Given the description of an element on the screen output the (x, y) to click on. 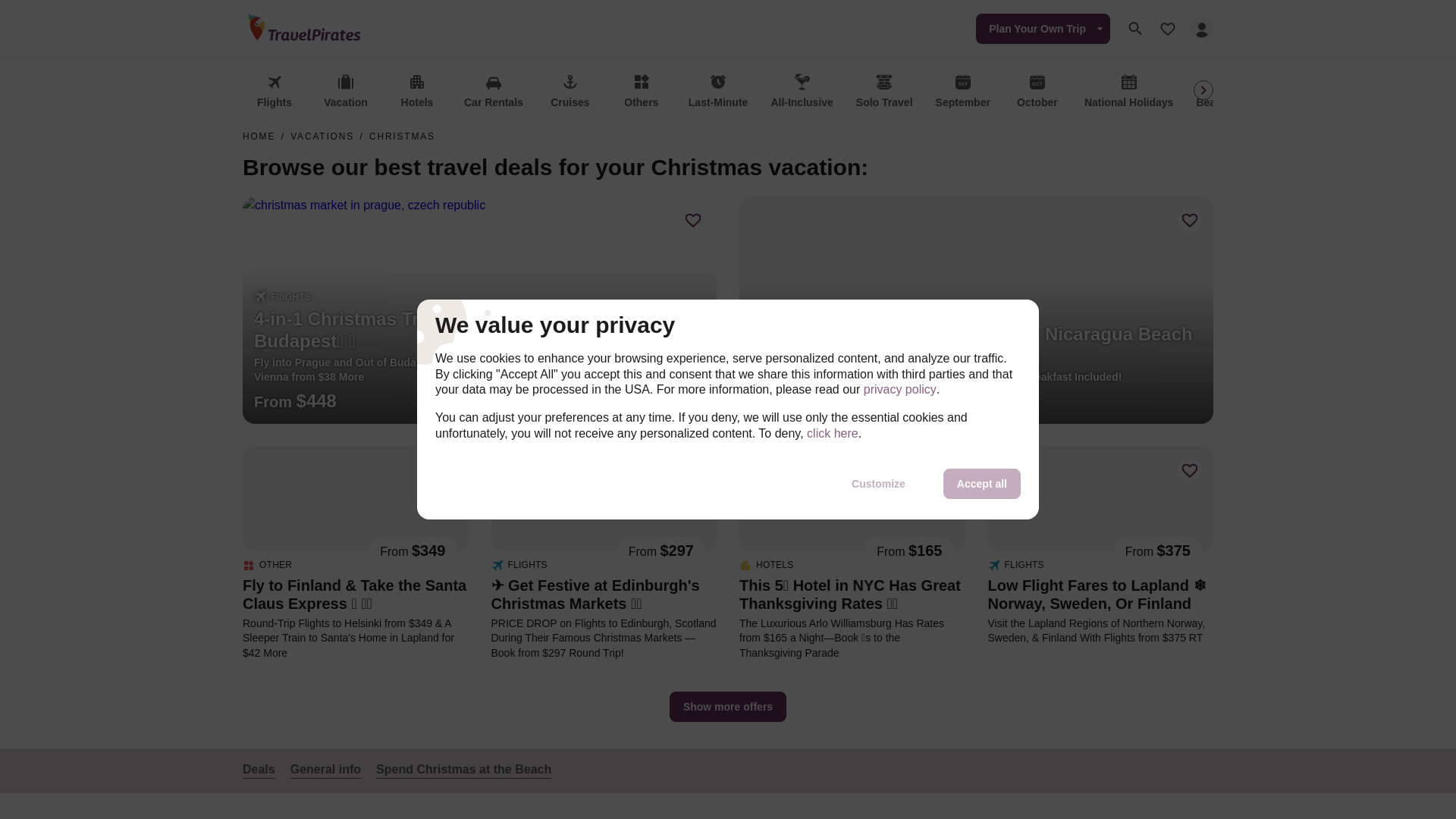
Hotels (416, 91)
All-Inclusive (801, 91)
HOME (259, 136)
Car Rentals (494, 91)
Flights (274, 91)
click here (832, 433)
VACATIONS (321, 136)
September (962, 91)
Beach Vacations (1237, 91)
Last-Minute (718, 91)
